Given the description of an element on the screen output the (x, y) to click on. 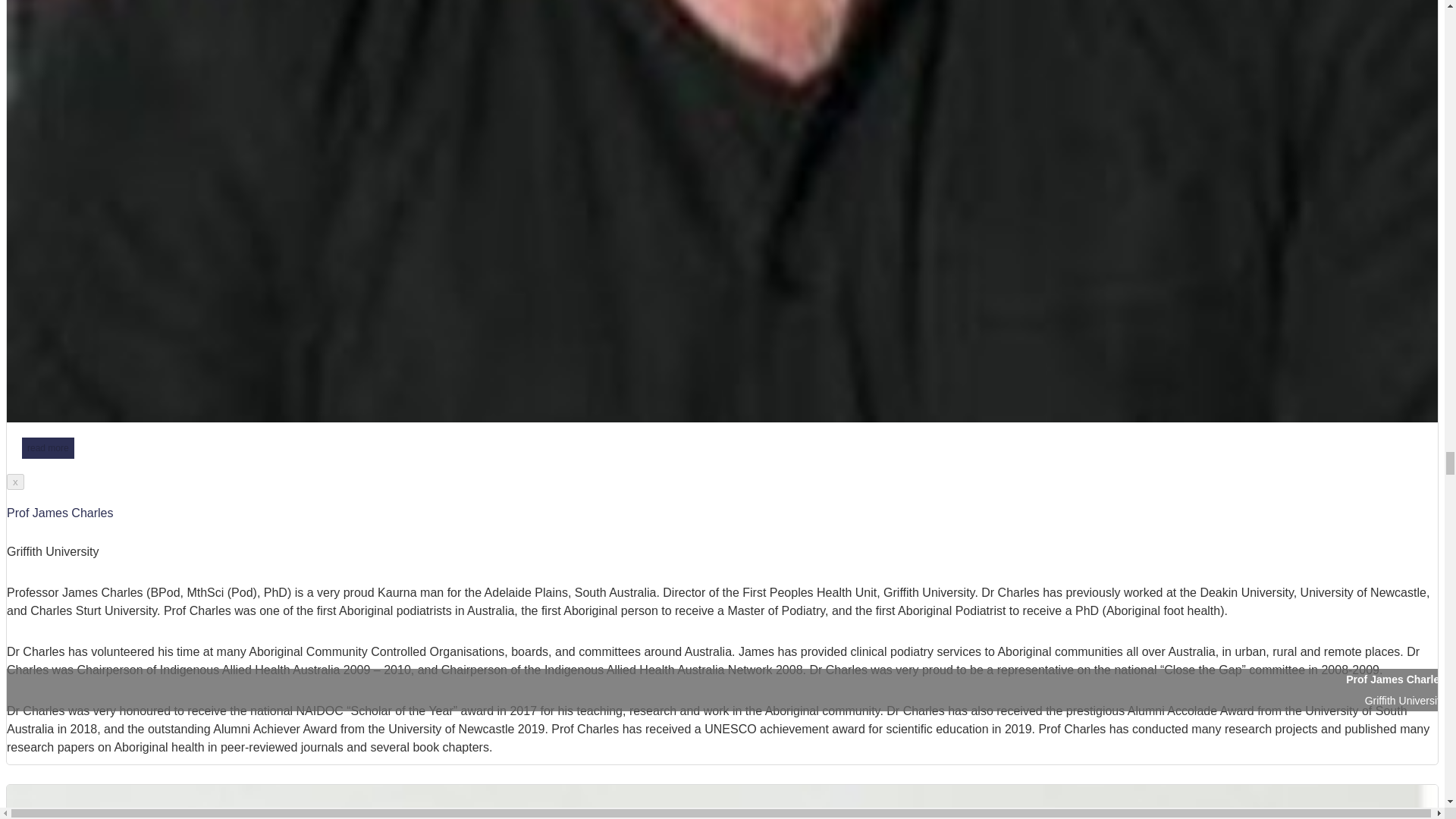
Allison  Cowin (722, 801)
